Given the description of an element on the screen output the (x, y) to click on. 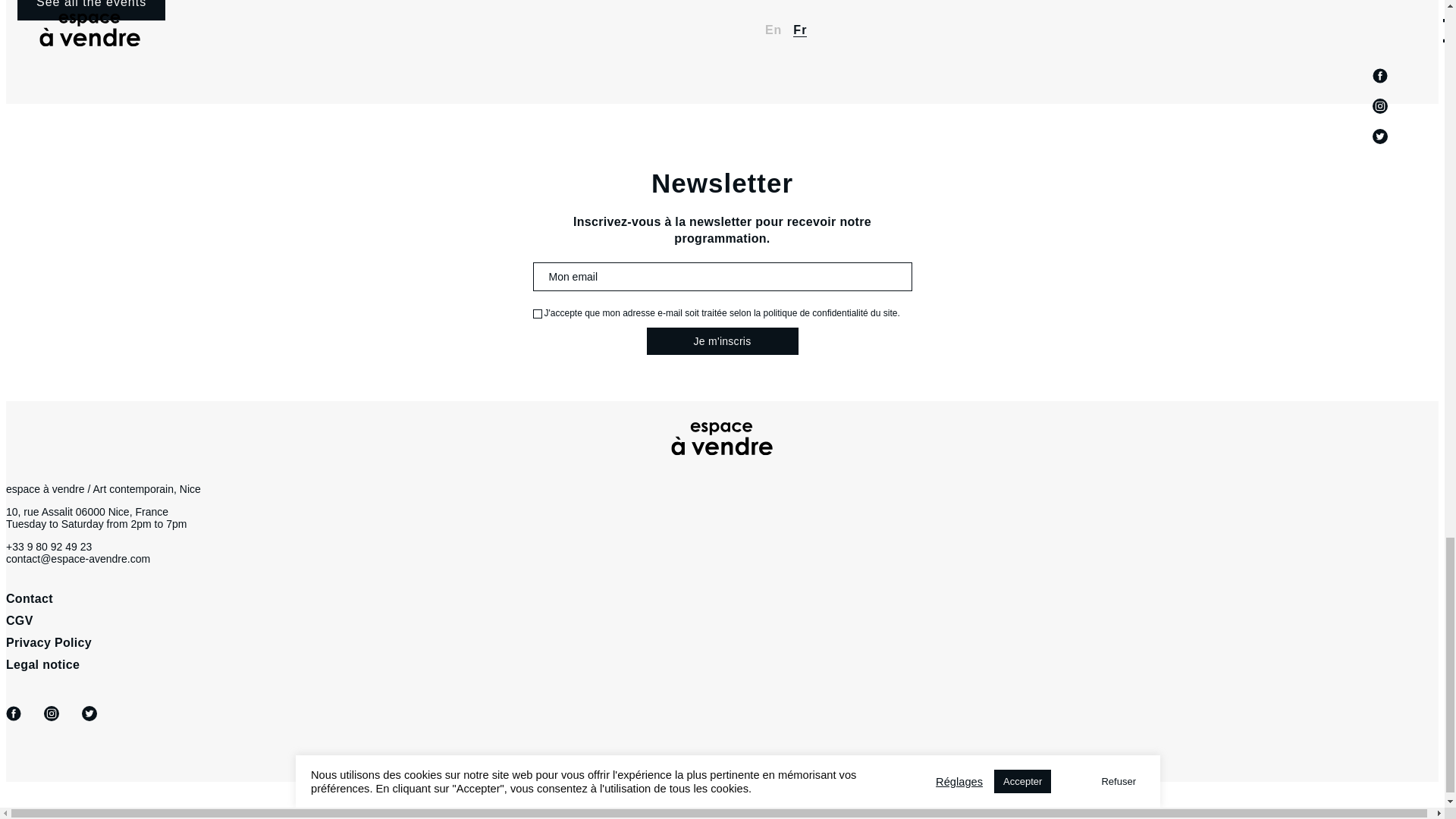
Je m'inscris (721, 340)
